Given the description of an element on the screen output the (x, y) to click on. 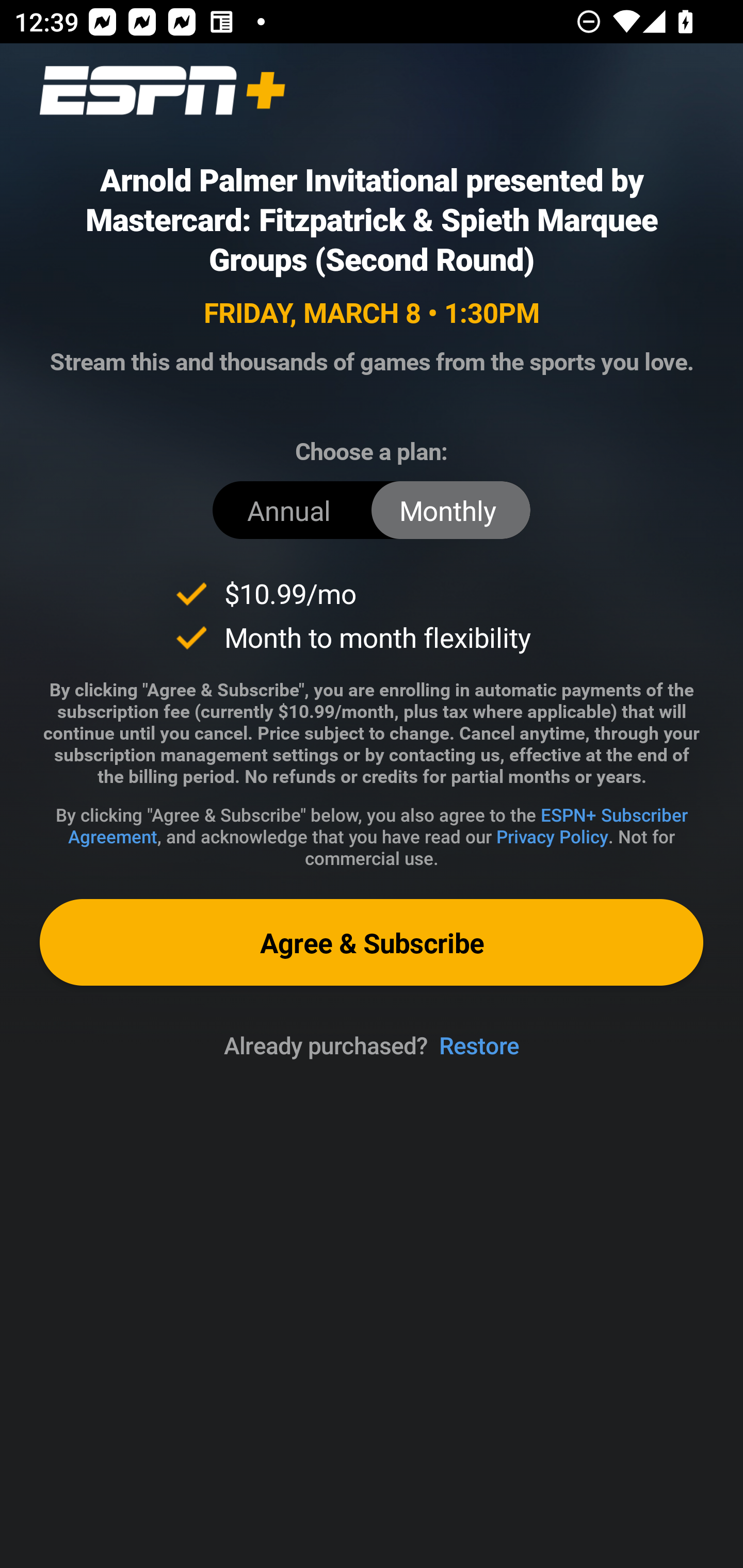
Agree & Subscribe (371, 942)
